Given the description of an element on the screen output the (x, y) to click on. 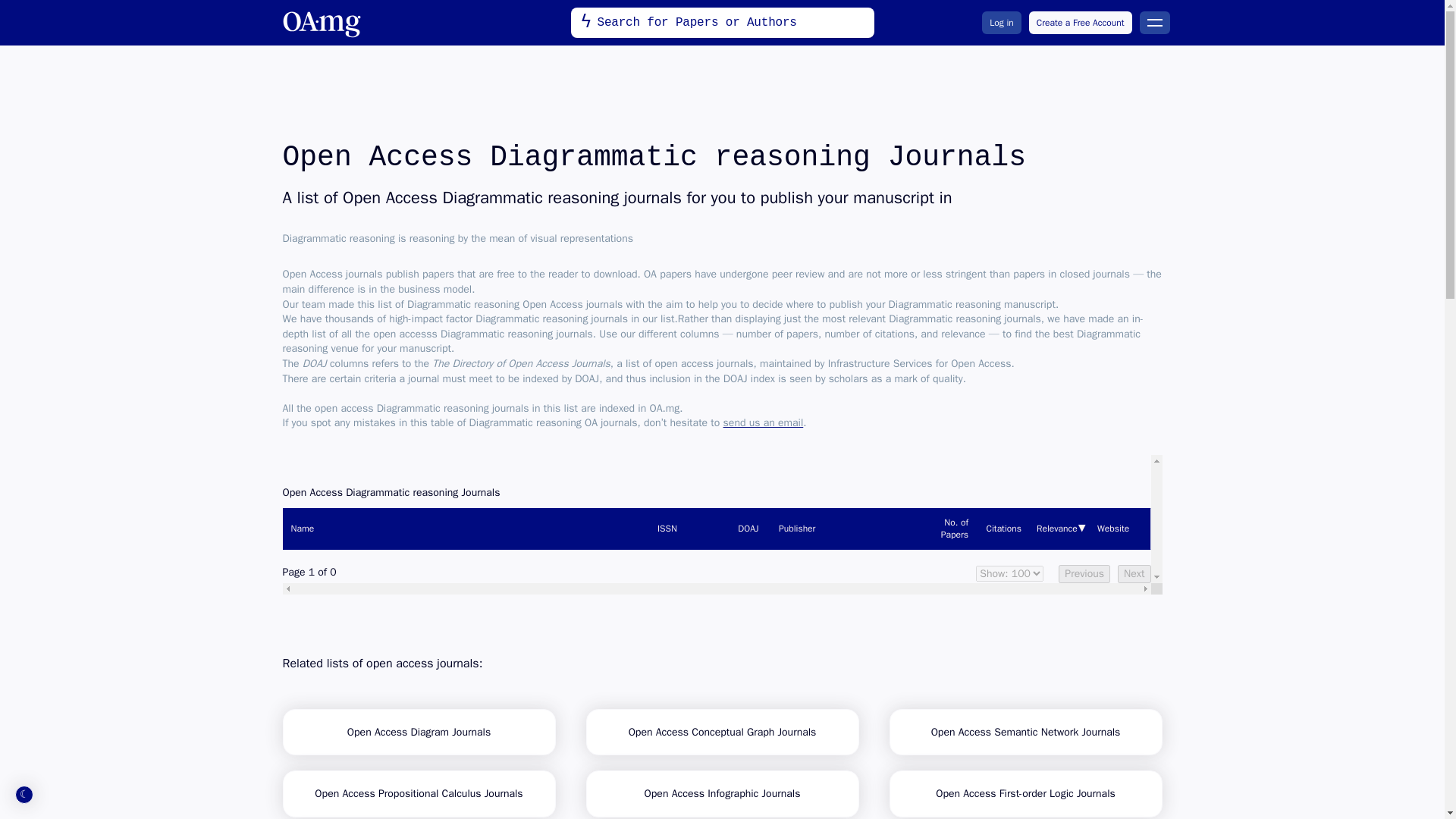
Toggle SortBy (1002, 528)
Open Access Conceptual Graph Journals (722, 731)
Toggle SortBy (1059, 528)
Toggle SortBy (847, 528)
Next (1134, 574)
Toggle SortBy (687, 528)
Open Access Semantic Network Journals (1024, 731)
Open Access First-order Logic Journals (1024, 793)
Toggle SortBy (748, 528)
send us an email (763, 422)
